Given the description of an element on the screen output the (x, y) to click on. 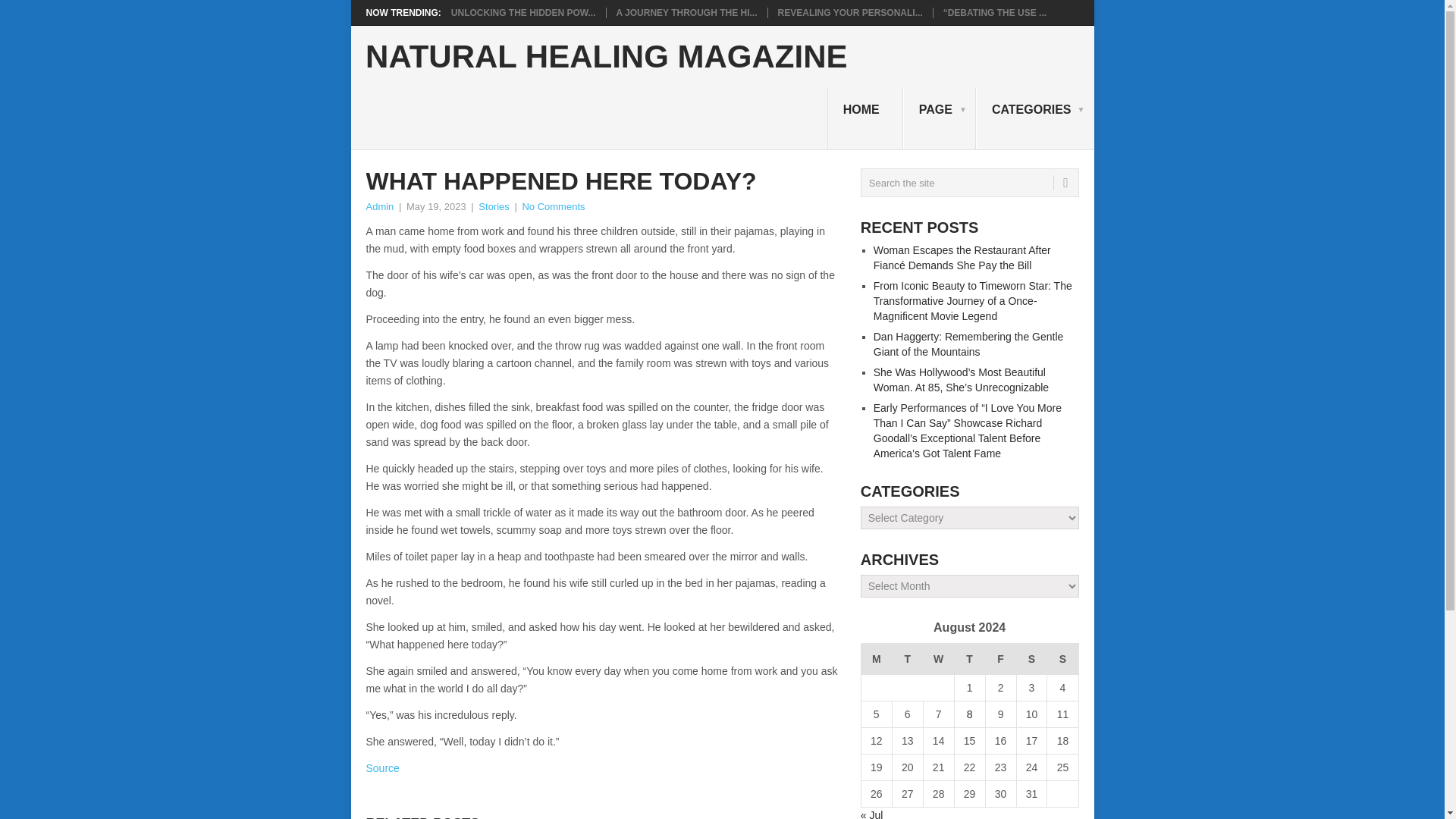
CATEGORIES (1034, 118)
Monday (875, 658)
Wednesday (938, 658)
Posts by Admin (379, 206)
A JOURNEY THROUGH THE HI... (686, 12)
Stories (493, 206)
Search the site (969, 182)
REVEALING YOUR PERSONALI... (850, 12)
Source (381, 767)
